Given the description of an element on the screen output the (x, y) to click on. 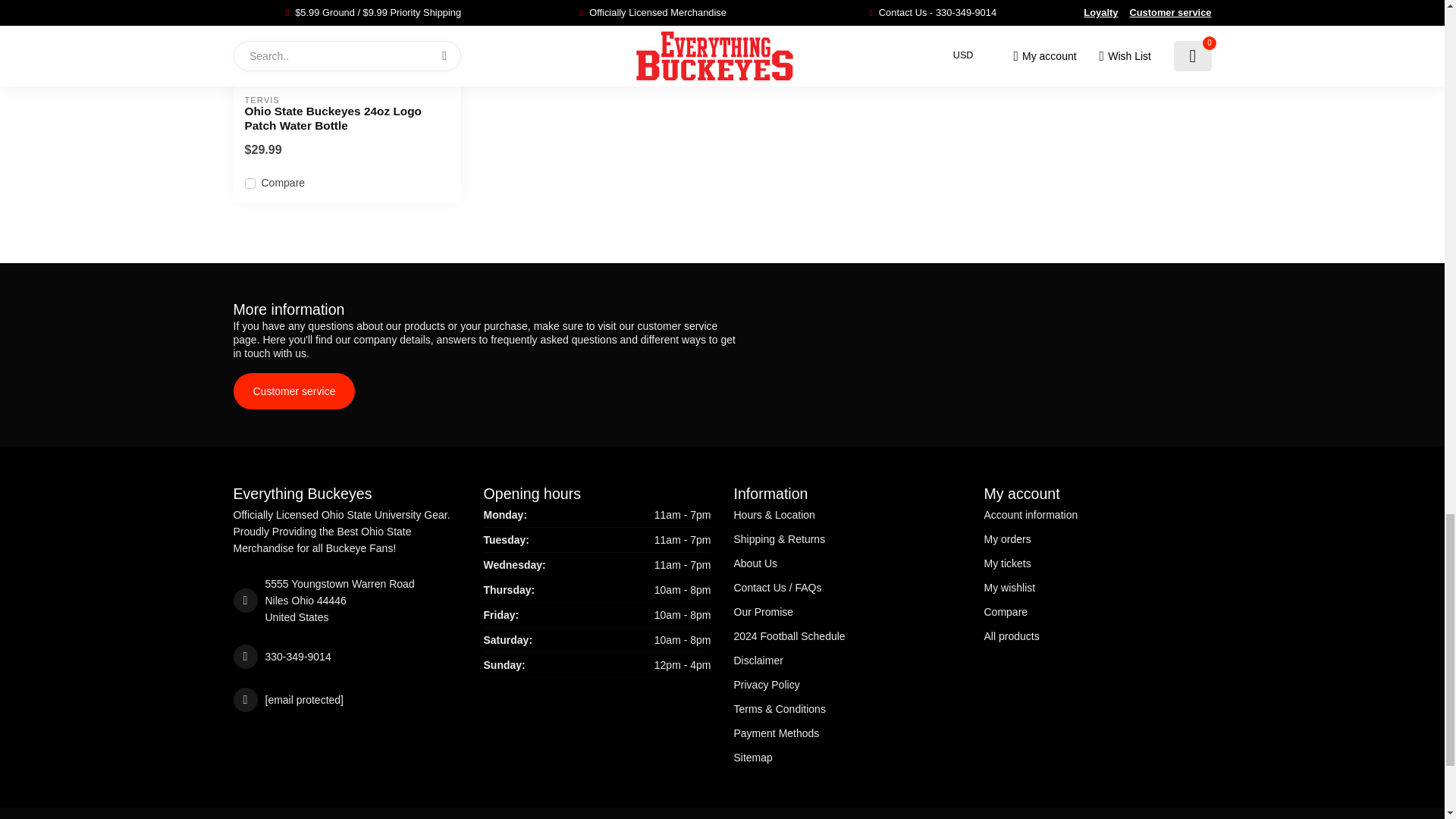
Payment Methods (846, 733)
Tervis Ohio State Buckeyes 24oz Logo Patch Water Bottle (346, 118)
Our Promise (846, 611)
Disclaimer (846, 660)
My orders (1097, 539)
Sitemap (846, 757)
About Us (846, 563)
Tervis Ohio State Buckeyes 24oz Logo Patch Water Bottle (346, 42)
Privacy Policy (846, 684)
2024 Football Schedule (846, 636)
Account information (1097, 514)
